Given the description of an element on the screen output the (x, y) to click on. 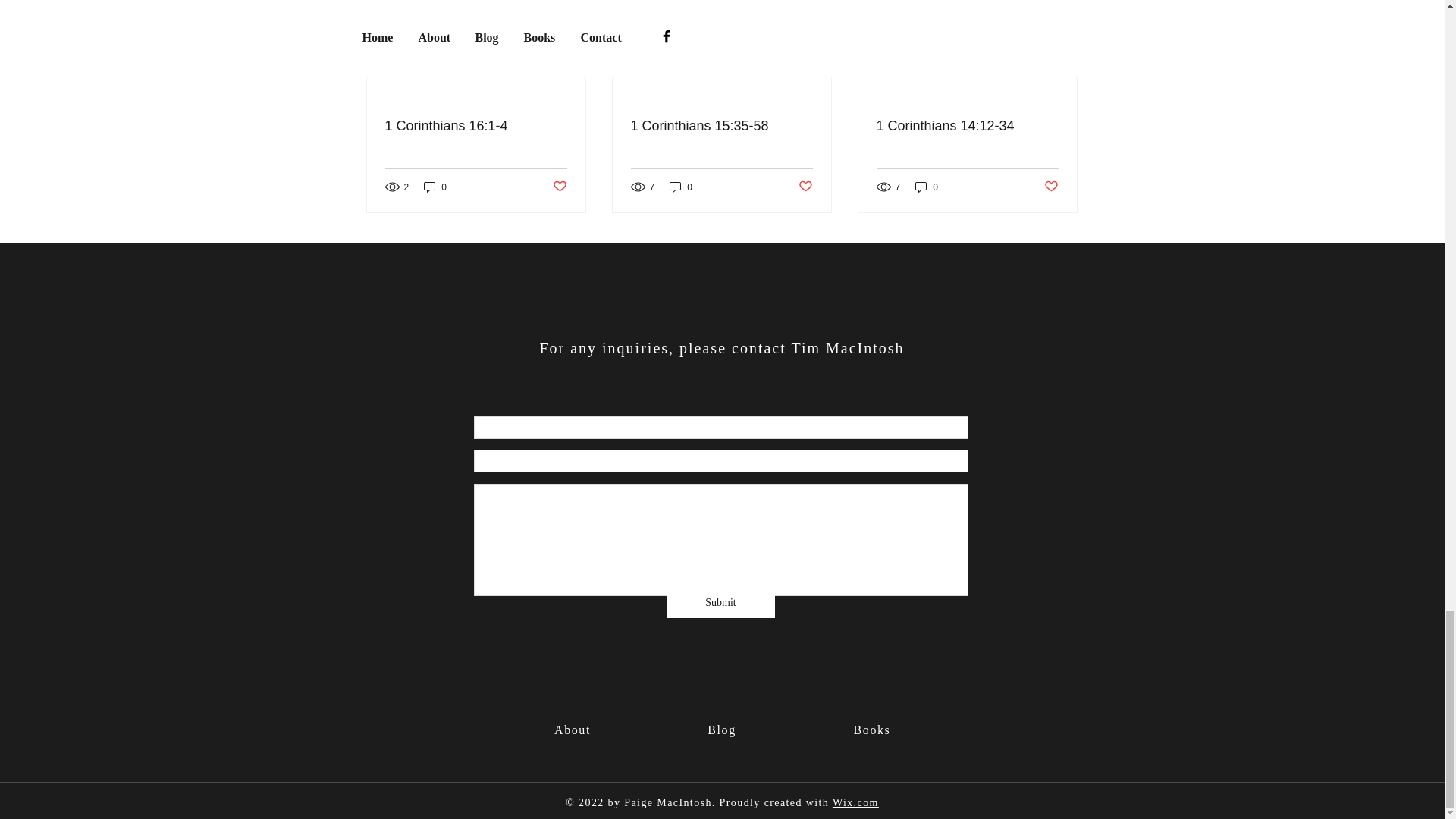
0 (435, 186)
0 (926, 186)
Post not marked as liked (804, 186)
Post not marked as liked (1050, 186)
Post not marked as liked (558, 186)
0 (681, 186)
1 Corinthians 14:12-34 (967, 125)
1 Corinthians 15:35-58 (721, 125)
Wix.com (855, 802)
1 Corinthians 16:1-4 (476, 125)
Blog (721, 729)
Submit (720, 603)
About (572, 729)
Books (872, 729)
